Given the description of an element on the screen output the (x, y) to click on. 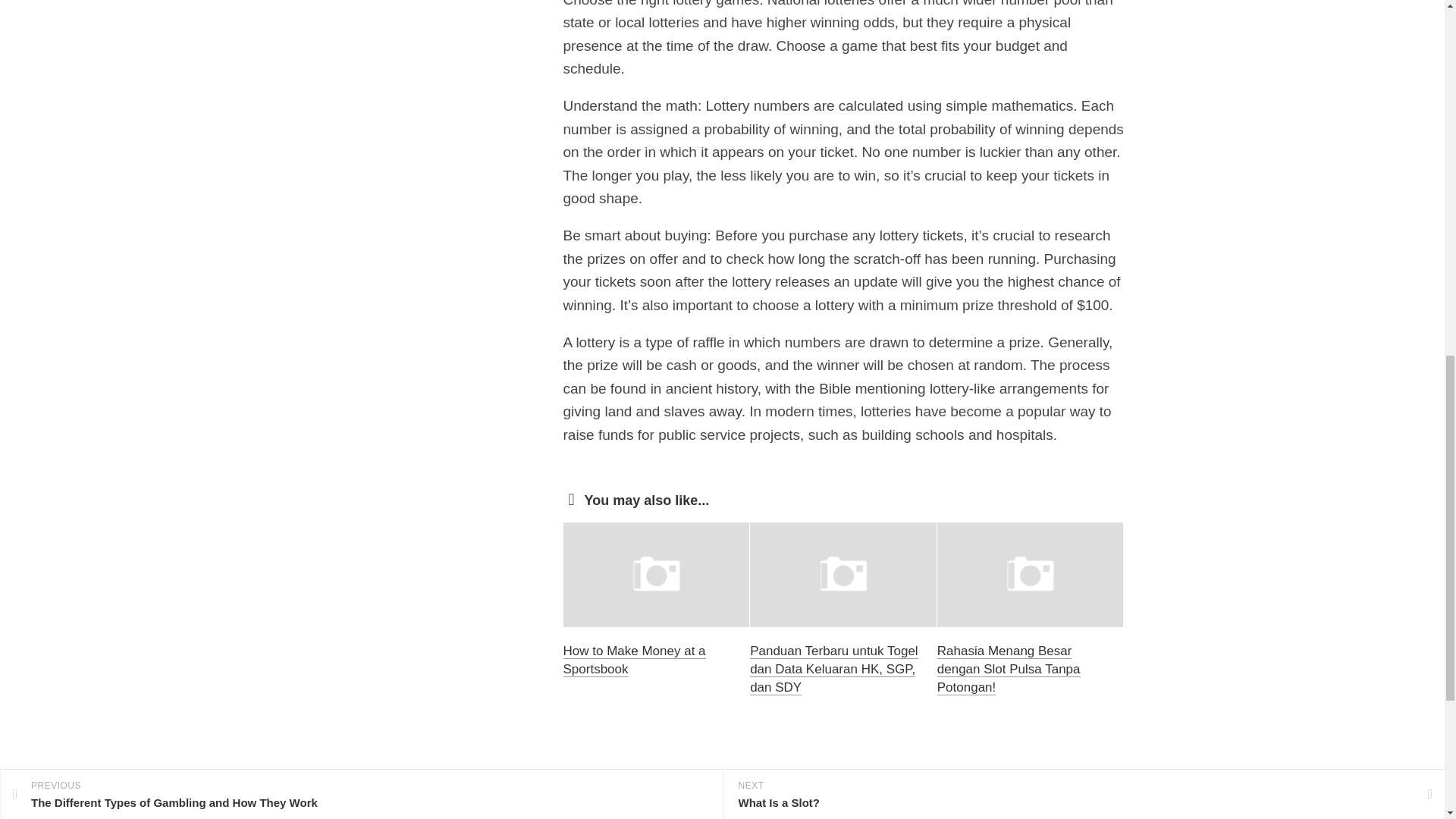
How to Make Money at a Sportsbook (633, 659)
Rahasia Menang Besar dengan Slot Pulsa Tanpa Potongan! (1008, 668)
